Given the description of an element on the screen output the (x, y) to click on. 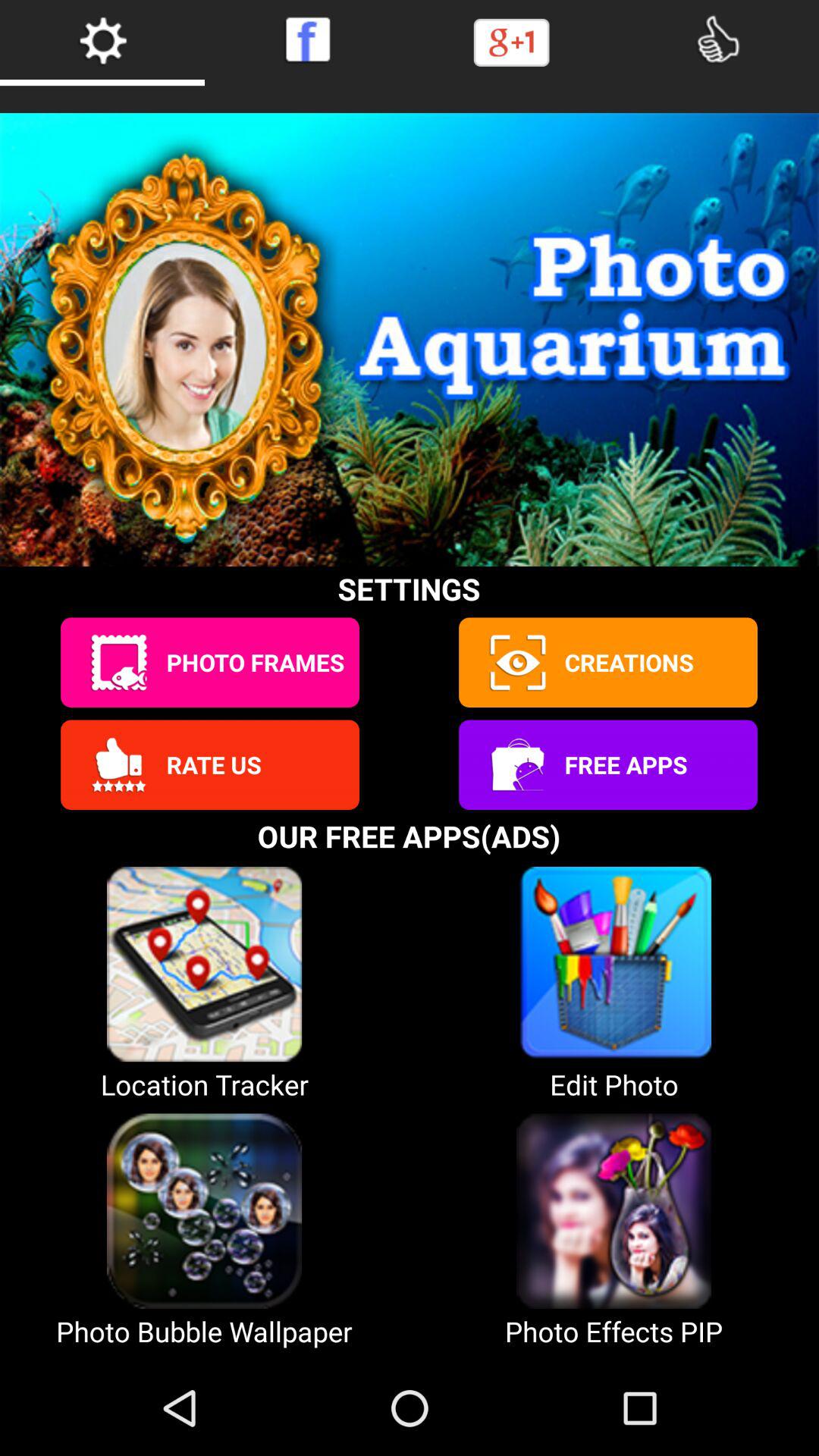
open free app list (516, 764)
